Given the description of an element on the screen output the (x, y) to click on. 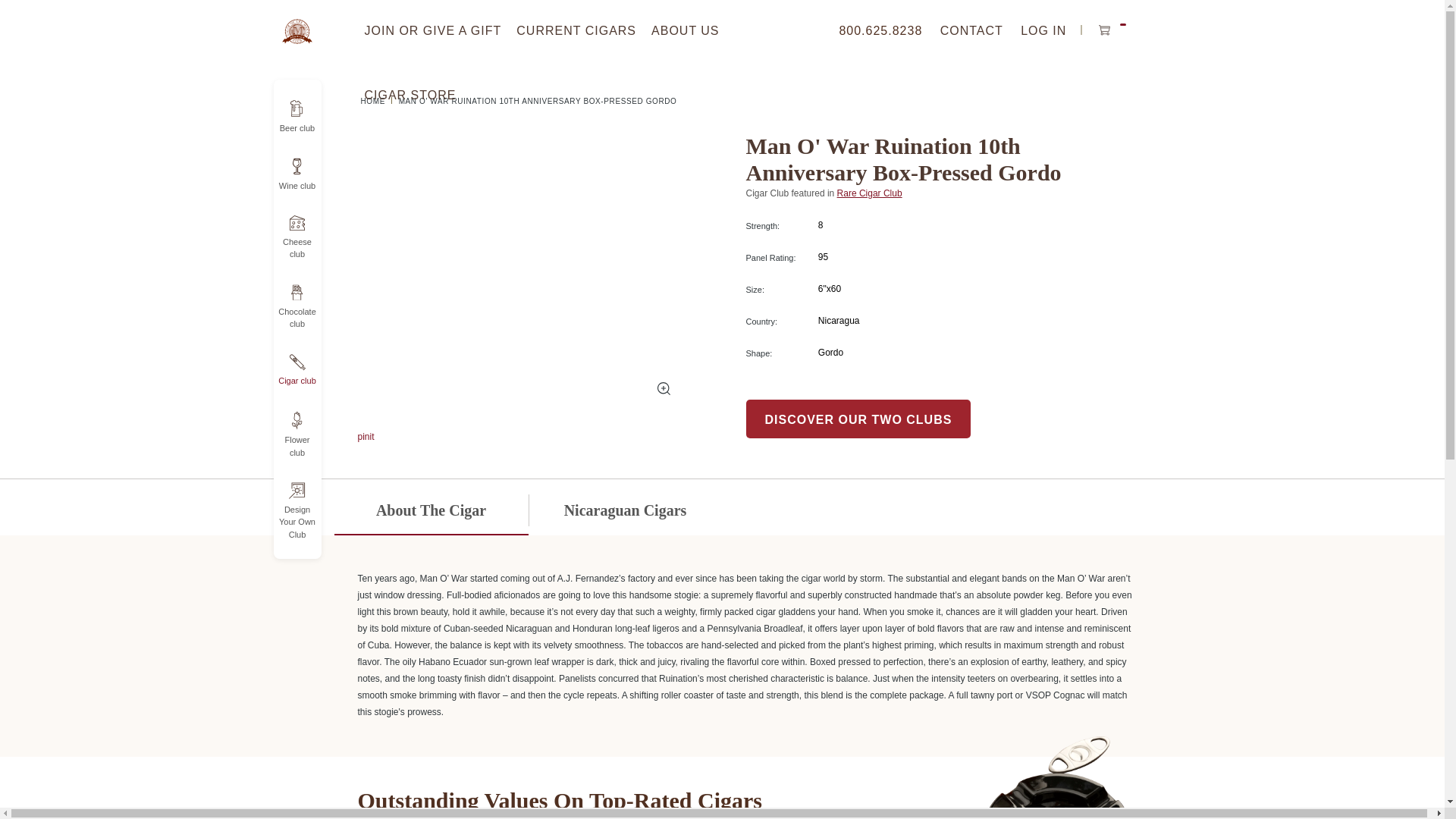
MY CART (1112, 32)
Rare Cigar Club (869, 193)
CURRENT CIGARS (576, 31)
ABOUT US (685, 31)
Nicaraguan Cigars (624, 510)
CONTACT (879, 31)
Home (971, 31)
pinit (378, 101)
DISCOVER OUR TWO CLUBS (551, 437)
About The Cigar (858, 418)
Wine club (430, 510)
CIGAR STORE (297, 174)
JOIN OR GIVE A GIFT (410, 95)
Cigar club (432, 31)
